Given the description of an element on the screen output the (x, y) to click on. 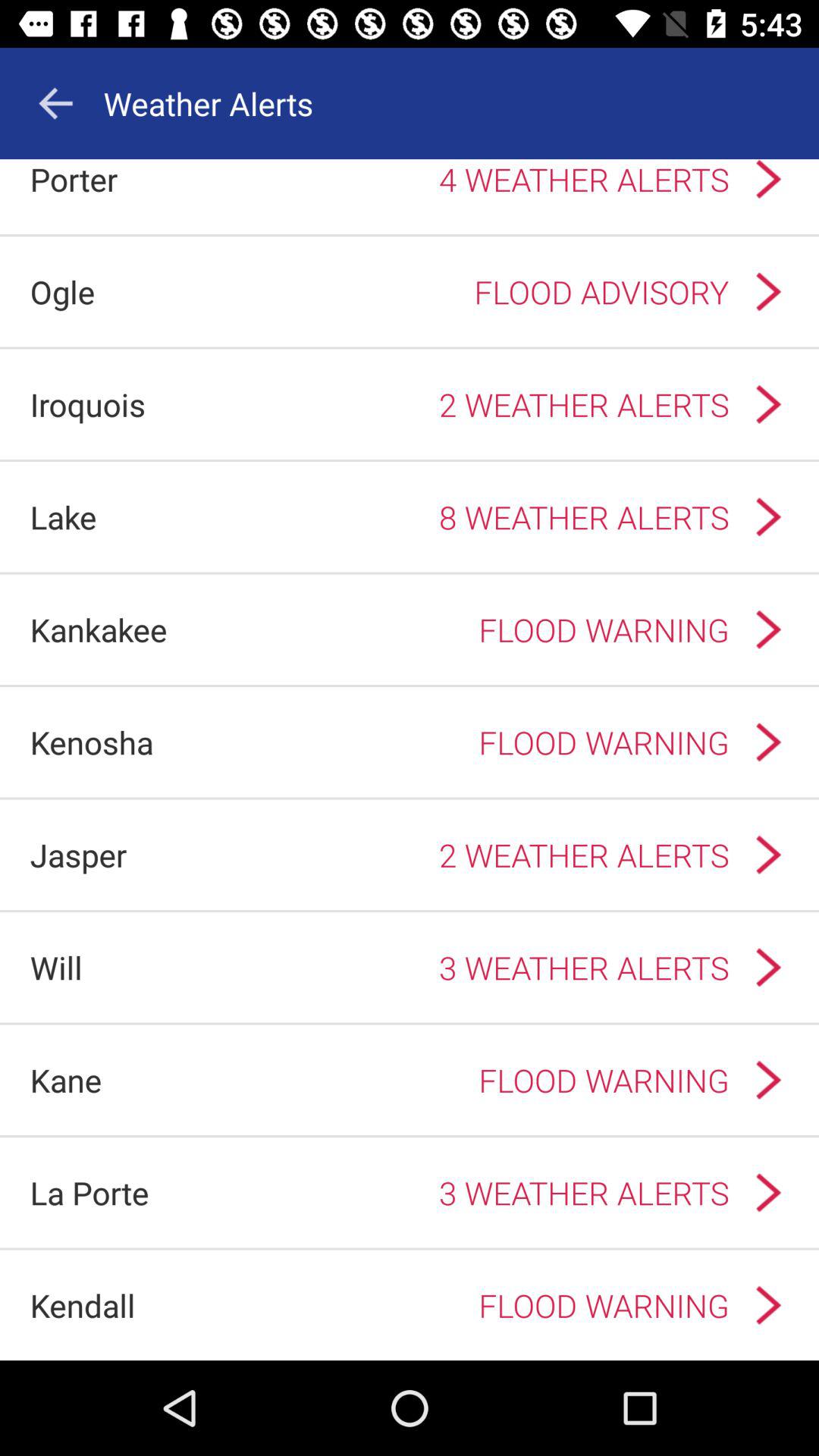
turn on the kendall app (82, 1304)
